Given the description of an element on the screen output the (x, y) to click on. 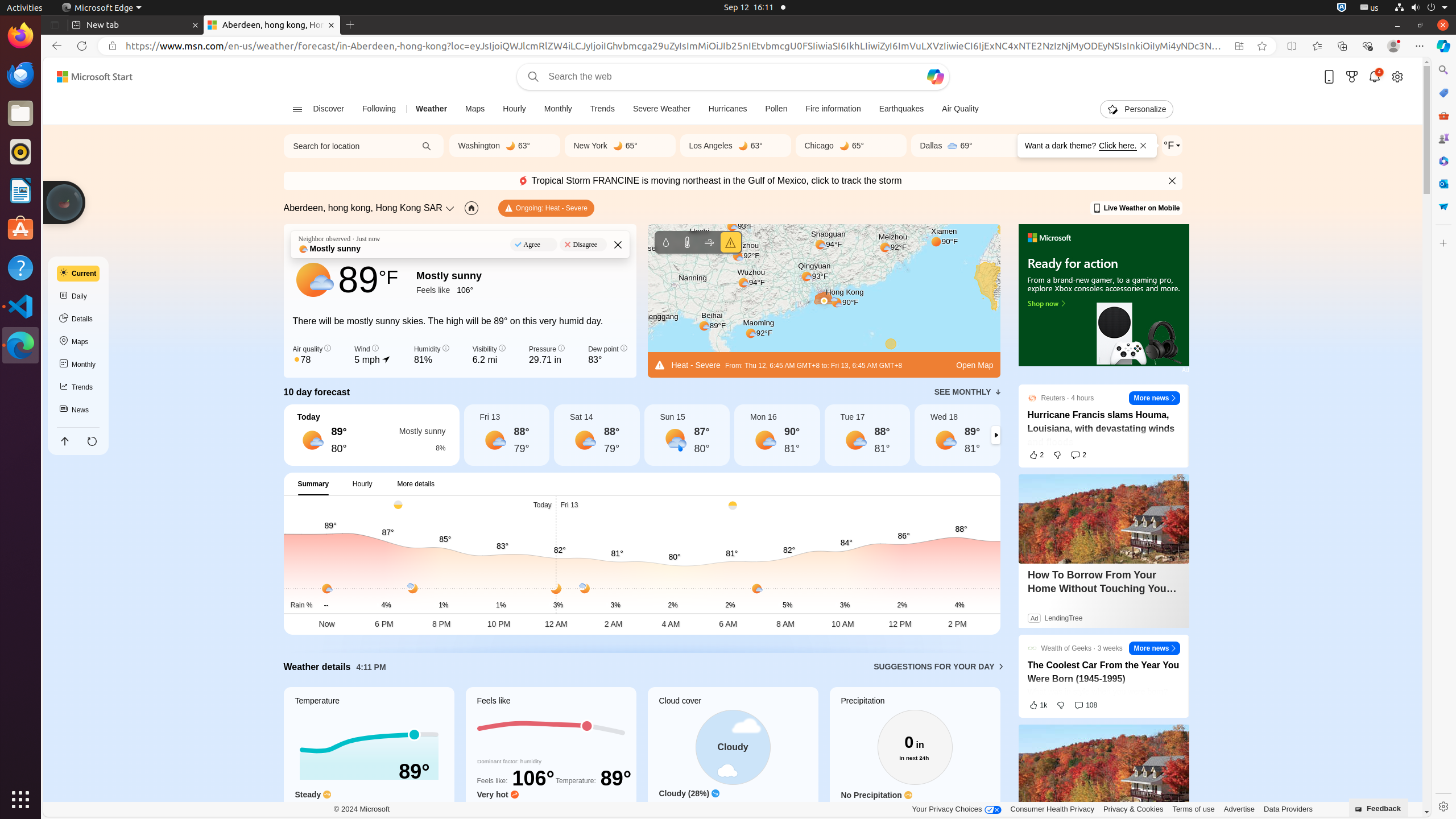
Mon 16 Mostly sunny 90° 81° Element type: push-button (777, 434)
Trends Element type: link (601, 108)
Split screen Element type: push-button (1291, 45)
Weather settings Want a dark theme?Click here. Element type: push-button (1171, 145)
Microsoft Shopping Element type: push-button (1443, 92)
